Given the description of an element on the screen output the (x, y) to click on. 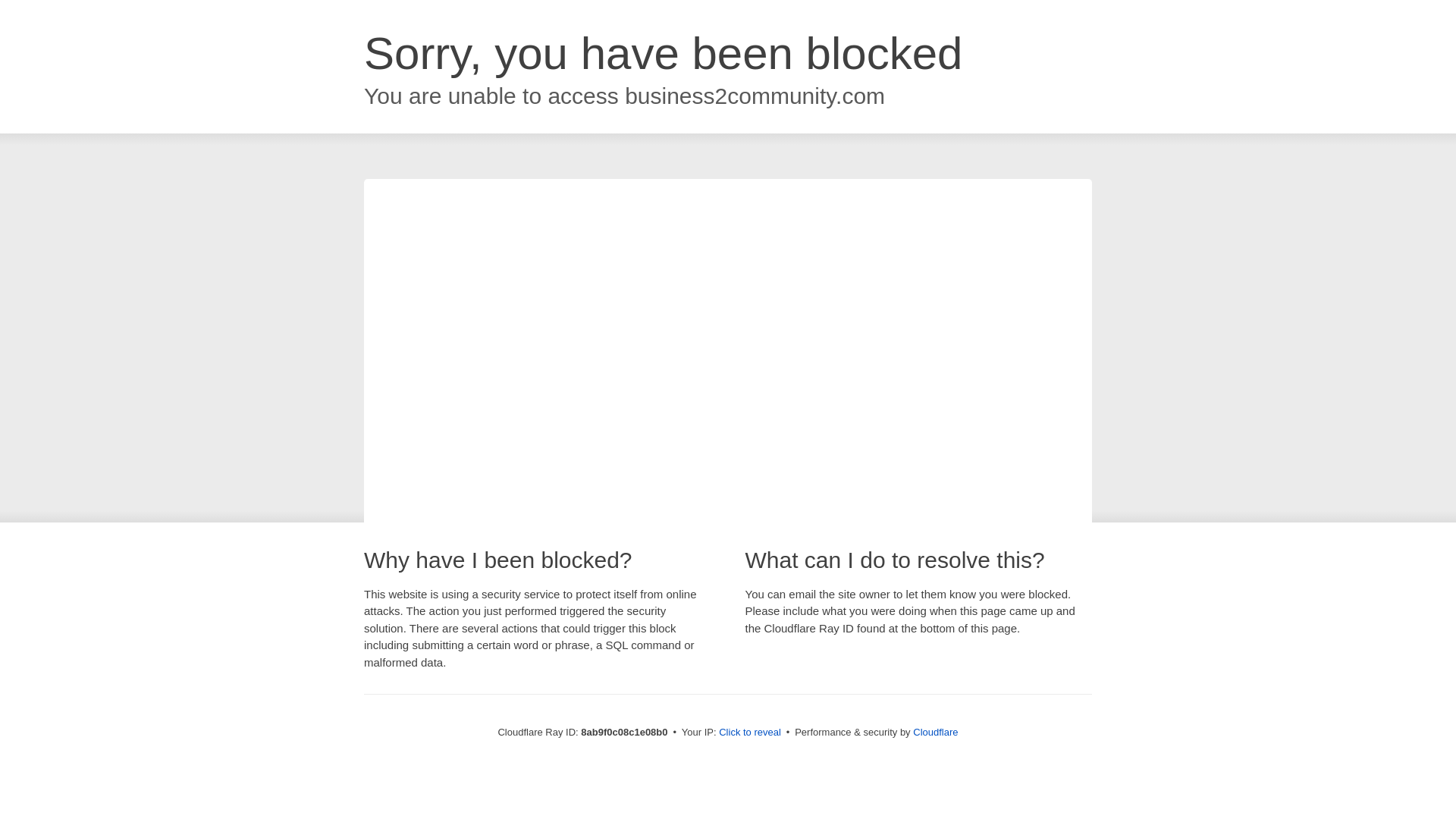
Cloudflare (935, 731)
Click to reveal (749, 732)
